Given the description of an element on the screen output the (x, y) to click on. 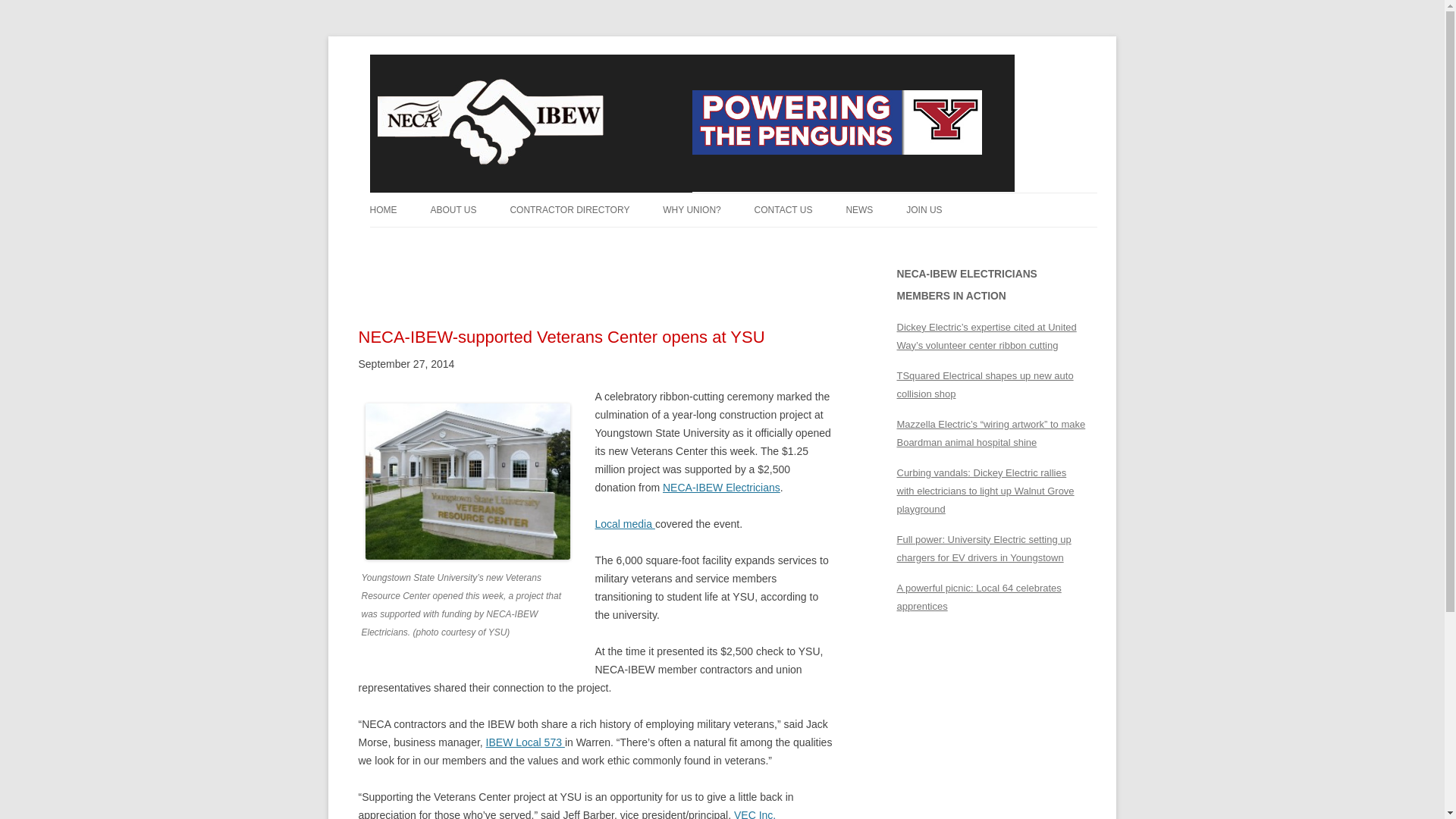
WHO IS NECA-IBEW ELECTRICIANS? (504, 251)
7 REASONS TO HIRE A UNION ELECTRICIAN (737, 251)
Skip to content (1090, 77)
Local media (623, 523)
TSquared Electrical shapes up new auto collision shop (984, 384)
WHY UNION? (691, 209)
A powerful picnic: Local 64 celebrates apprentices (978, 596)
CONTRACTOR DIRECTORY (568, 209)
